Given the description of an element on the screen output the (x, y) to click on. 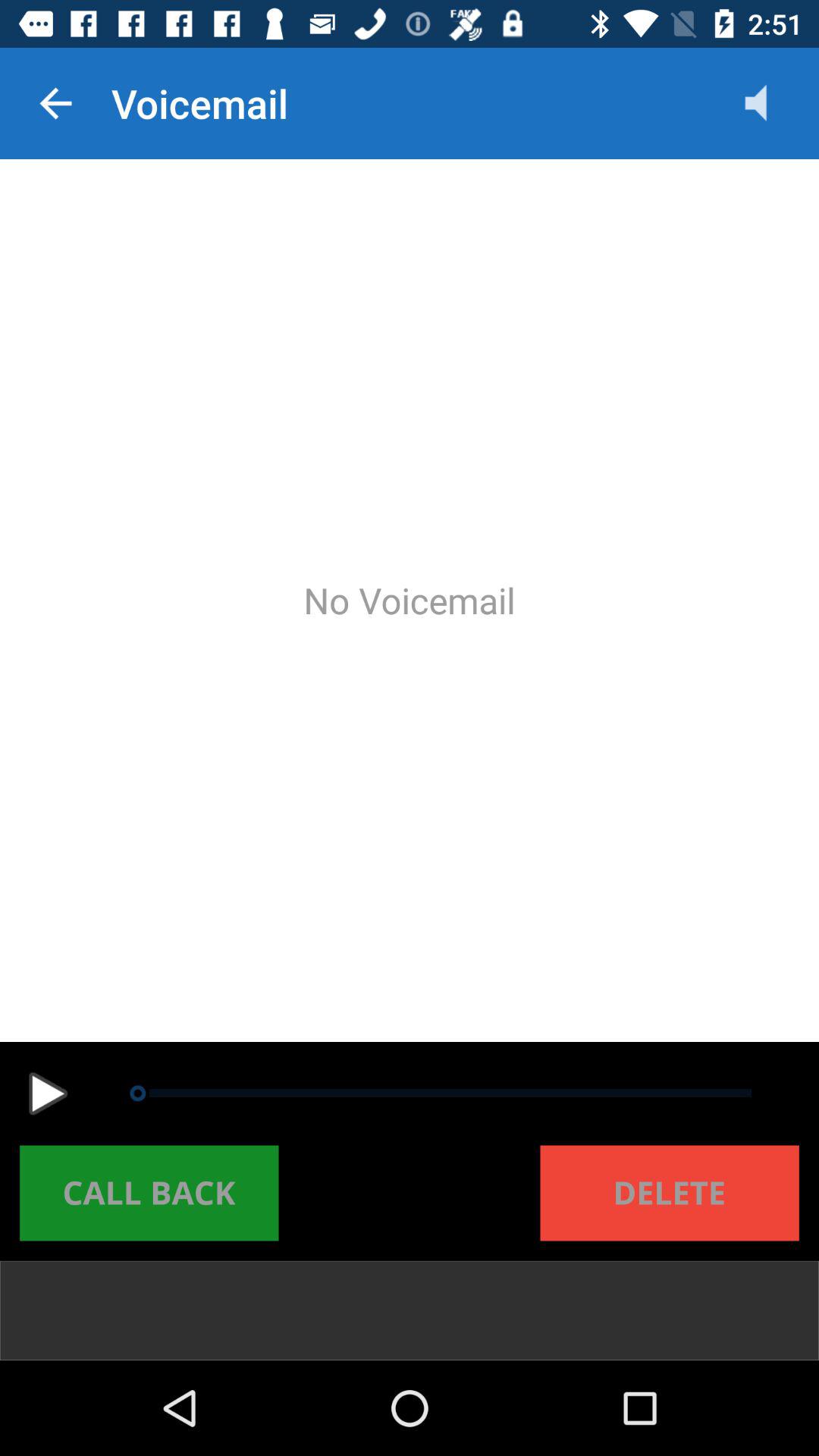
open the item above the no voicemail (771, 103)
